Given the description of an element on the screen output the (x, y) to click on. 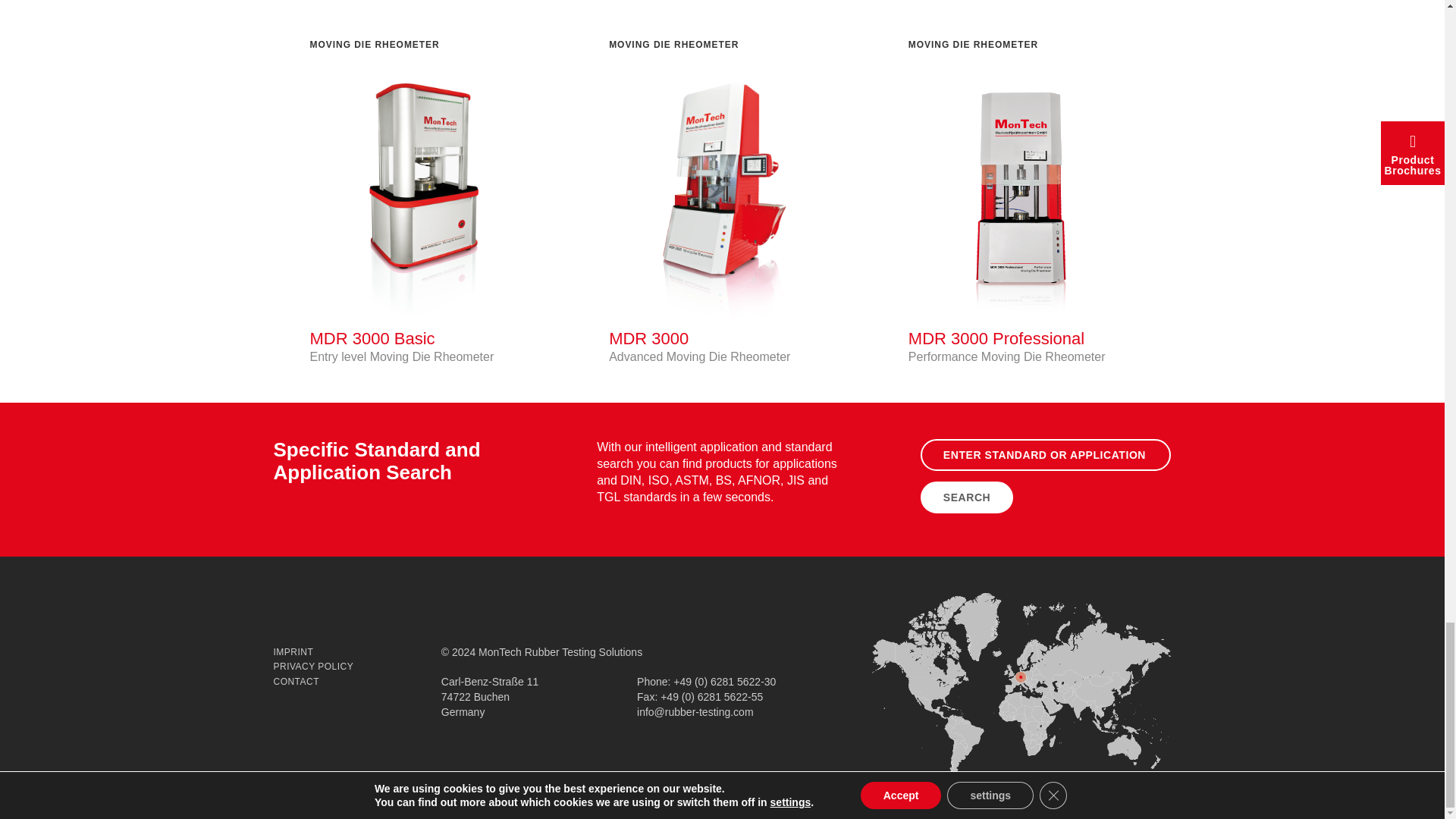
Search (966, 497)
